Given the description of an element on the screen output the (x, y) to click on. 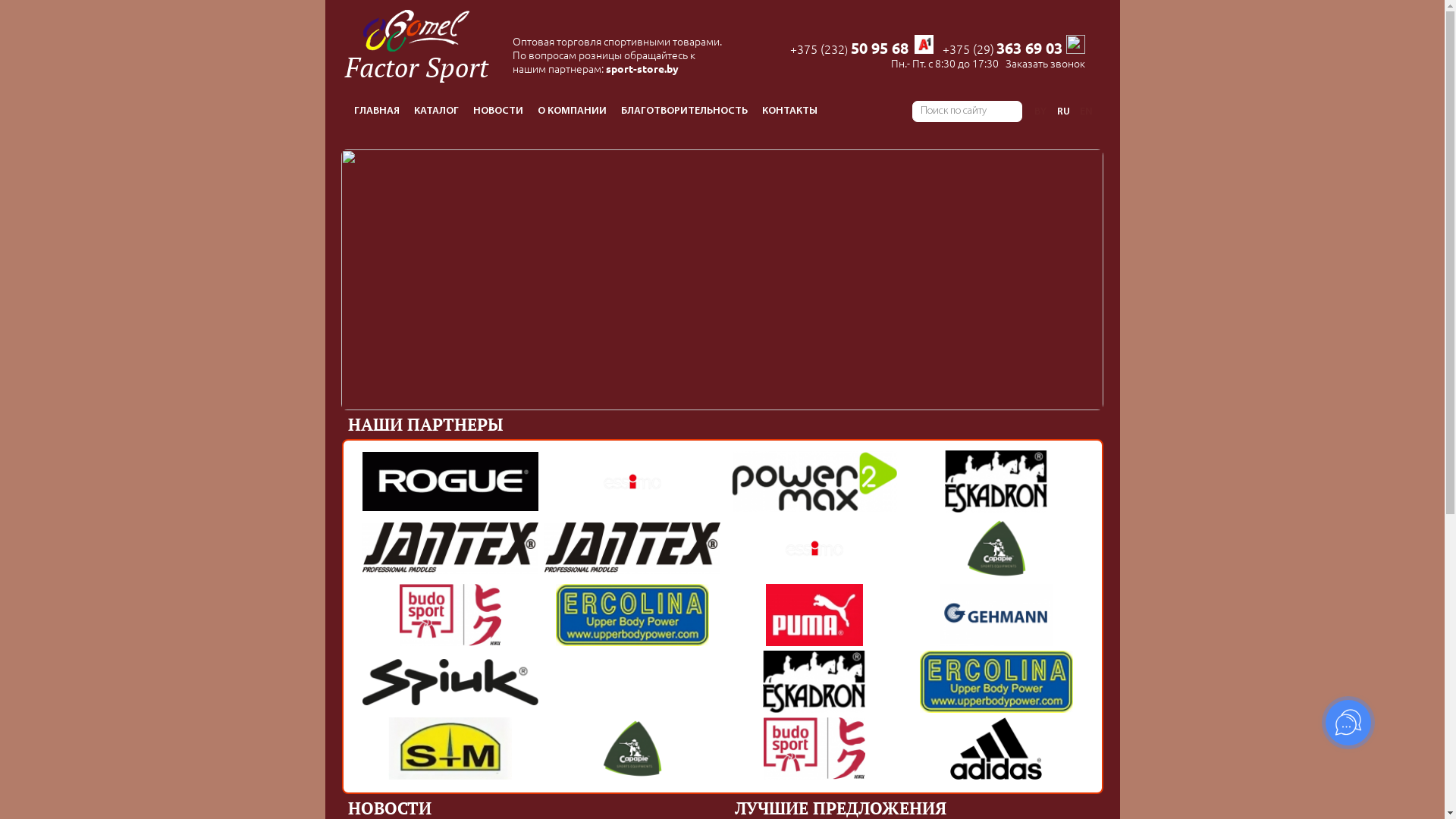
Factor Sport Element type: text (415, 41)
English Element type: text (1085, 111)
sport-store.by Element type: text (641, 68)
